Given the description of an element on the screen output the (x, y) to click on. 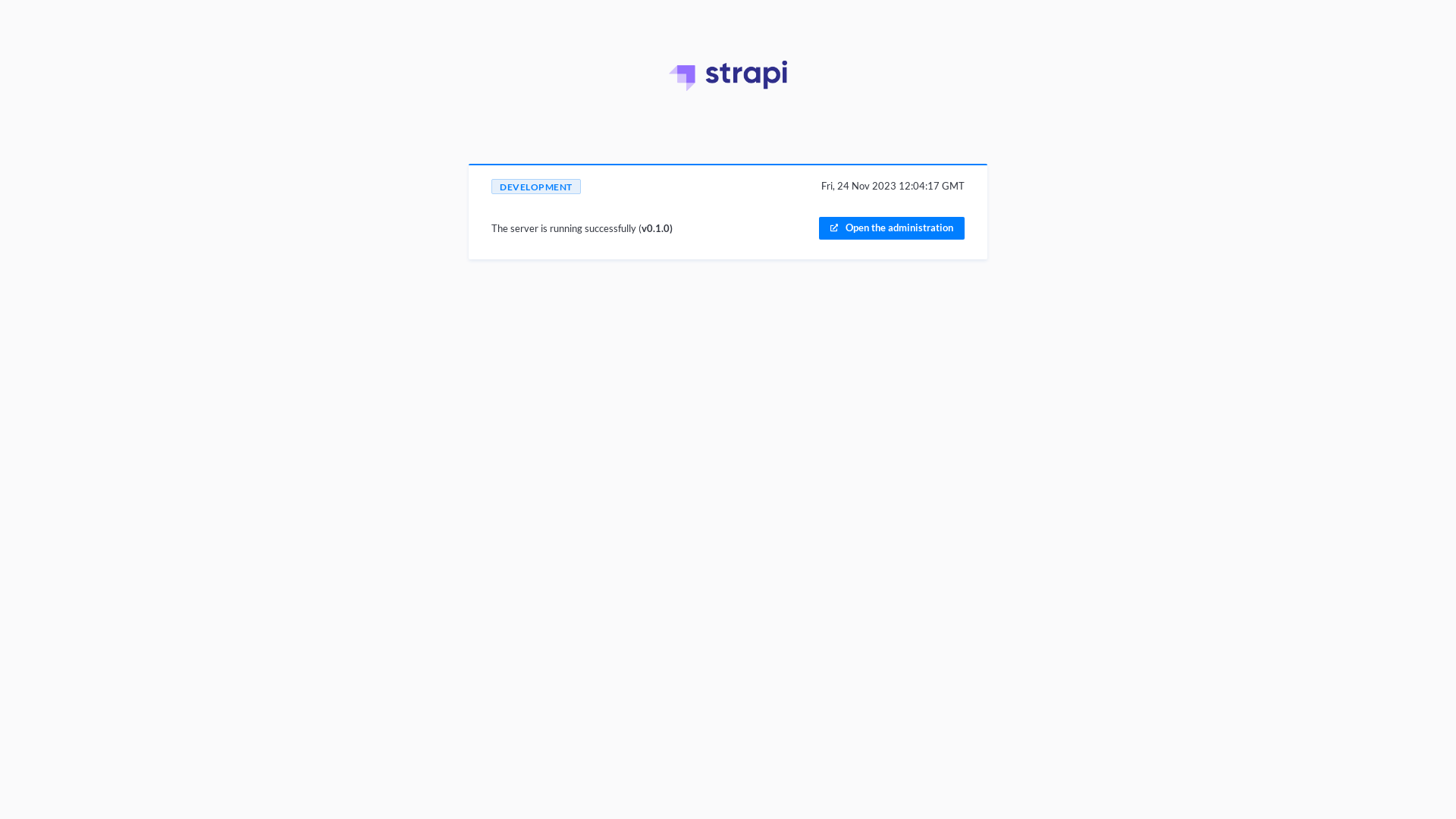
Open the administration Element type: text (891, 227)
